Given the description of an element on the screen output the (x, y) to click on. 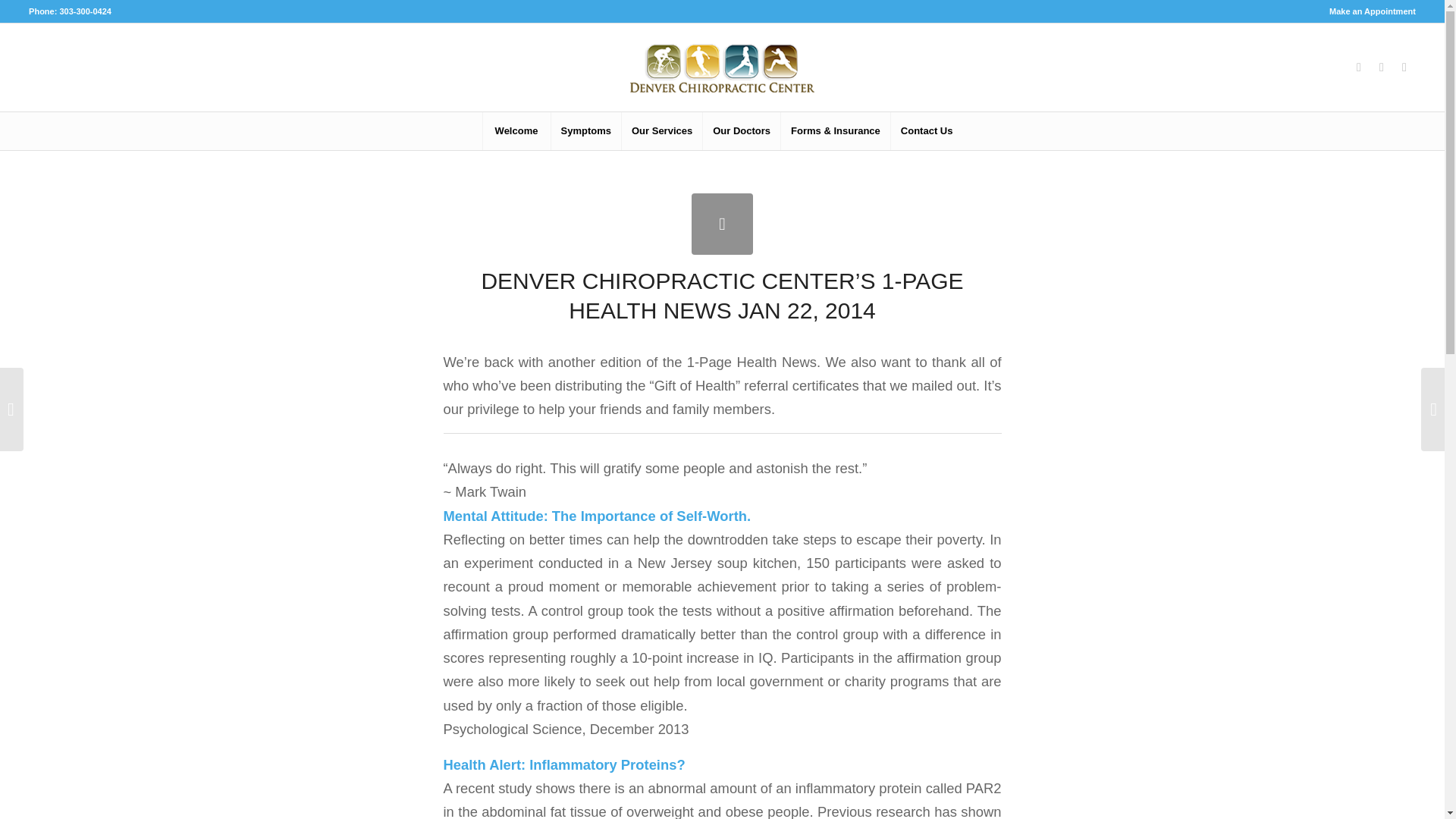
Denver Chiropractic Center's 1-Page Health News Jan 22, 2014 (721, 223)
Our Doctors (740, 130)
Contact Us (925, 130)
Our Services (661, 130)
Instagram (1381, 67)
Welcome (515, 130)
Mail (1404, 67)
Facebook (1359, 67)
Make an Appointment (1372, 11)
Symptoms (585, 130)
